Given the description of an element on the screen output the (x, y) to click on. 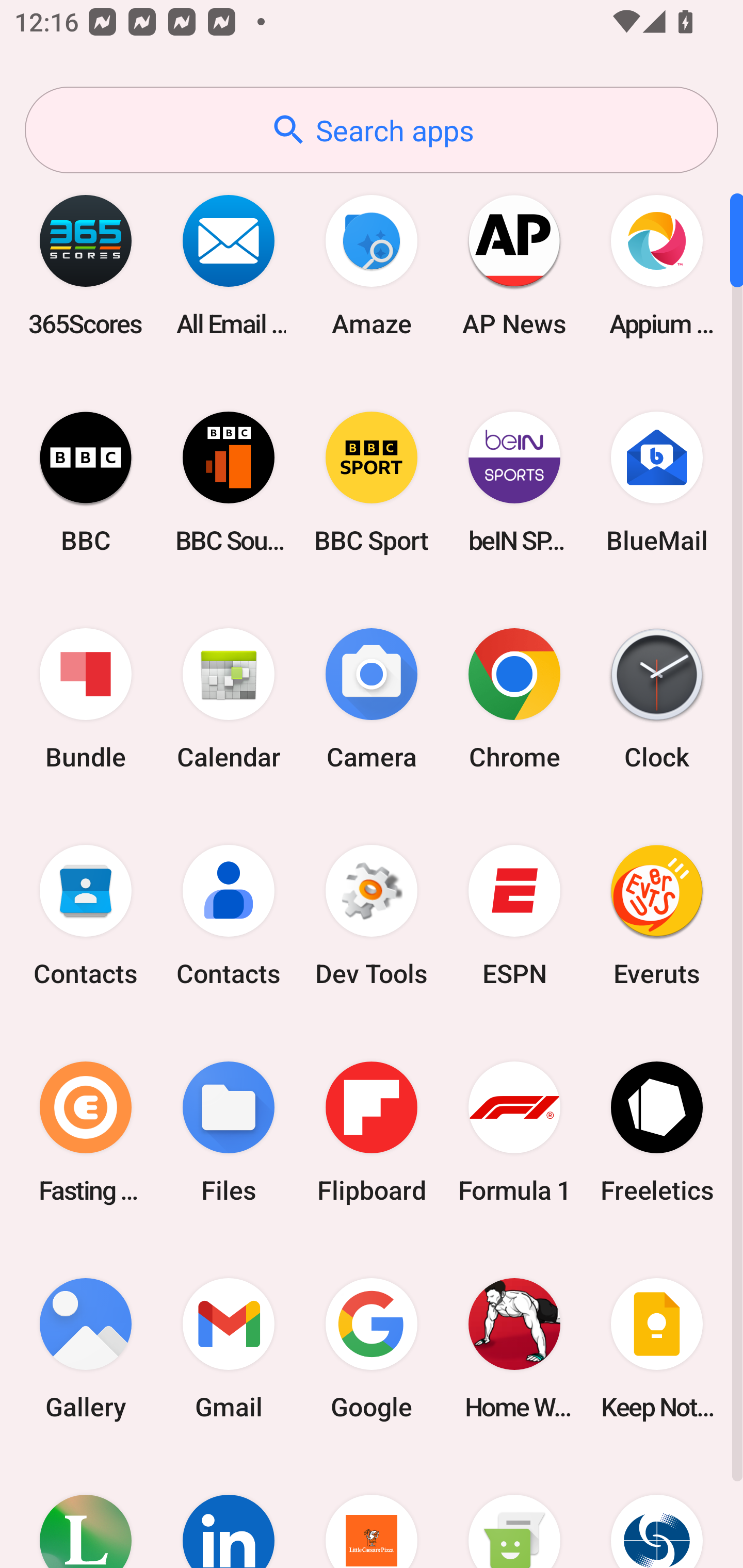
  Search apps (371, 130)
365Scores (85, 264)
All Email Connect (228, 264)
Amaze (371, 264)
AP News (514, 264)
Appium Settings (656, 264)
BBC (85, 482)
BBC Sounds (228, 482)
BBC Sport (371, 482)
beIN SPORTS (514, 482)
BlueMail (656, 482)
Bundle (85, 699)
Calendar (228, 699)
Camera (371, 699)
Chrome (514, 699)
Clock (656, 699)
Contacts (85, 915)
Contacts (228, 915)
Dev Tools (371, 915)
ESPN (514, 915)
Everuts (656, 915)
Fasting Coach (85, 1131)
Files (228, 1131)
Flipboard (371, 1131)
Formula 1 (514, 1131)
Freeletics (656, 1131)
Gallery (85, 1348)
Gmail (228, 1348)
Google (371, 1348)
Home Workout (514, 1348)
Keep Notes (656, 1348)
Lifesum (85, 1512)
LinkedIn (228, 1512)
Little Caesars Pizza (371, 1512)
Messaging (514, 1512)
MyObservatory (656, 1512)
